Given the description of an element on the screen output the (x, y) to click on. 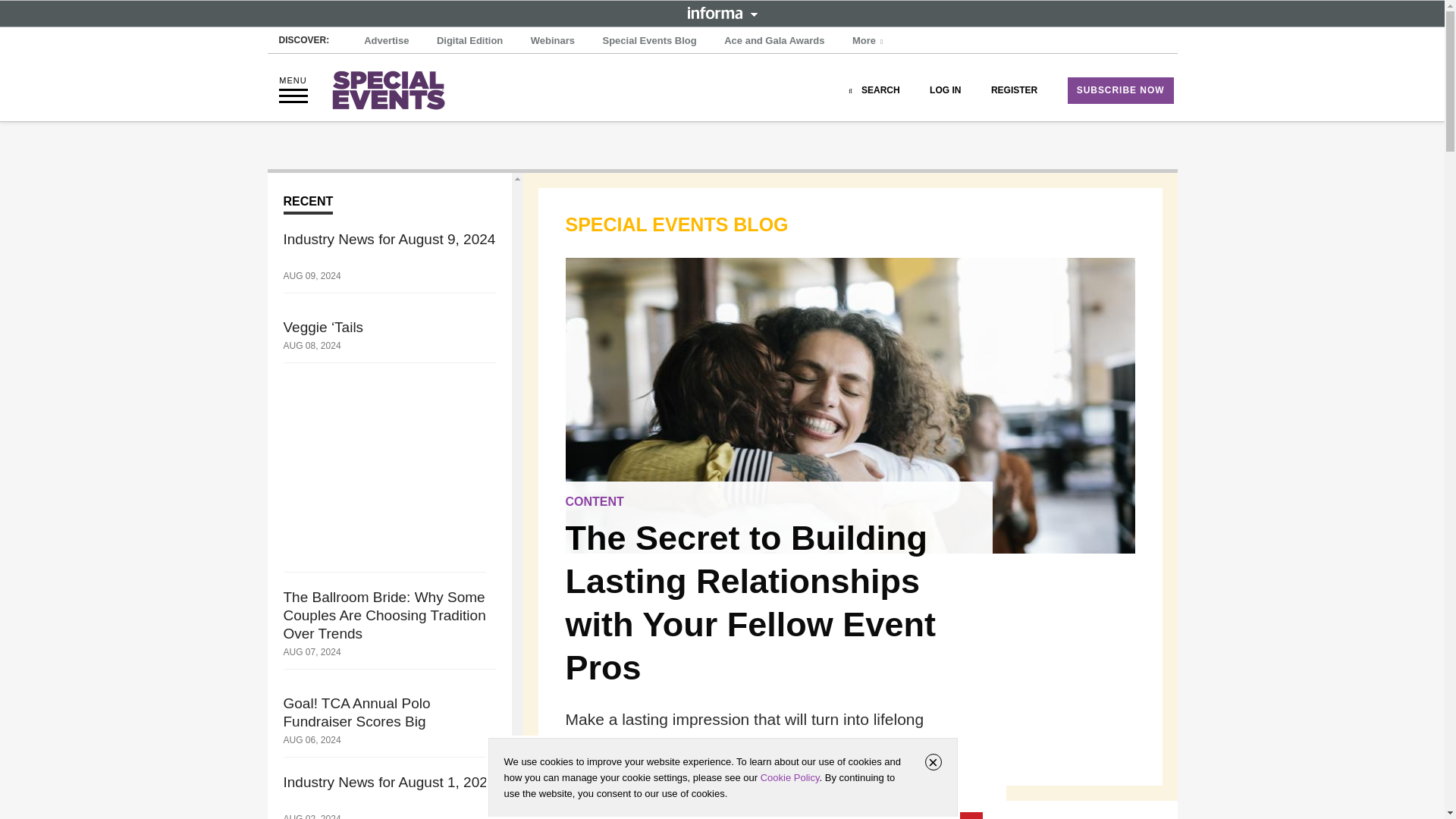
More (869, 41)
Digital Edition (469, 41)
INFORMA (722, 12)
Advertise (386, 41)
Special Events Blog (648, 41)
Cookie Policy (789, 777)
Ace and Gala Awards (773, 41)
Webinars (552, 41)
